Given the description of an element on the screen output the (x, y) to click on. 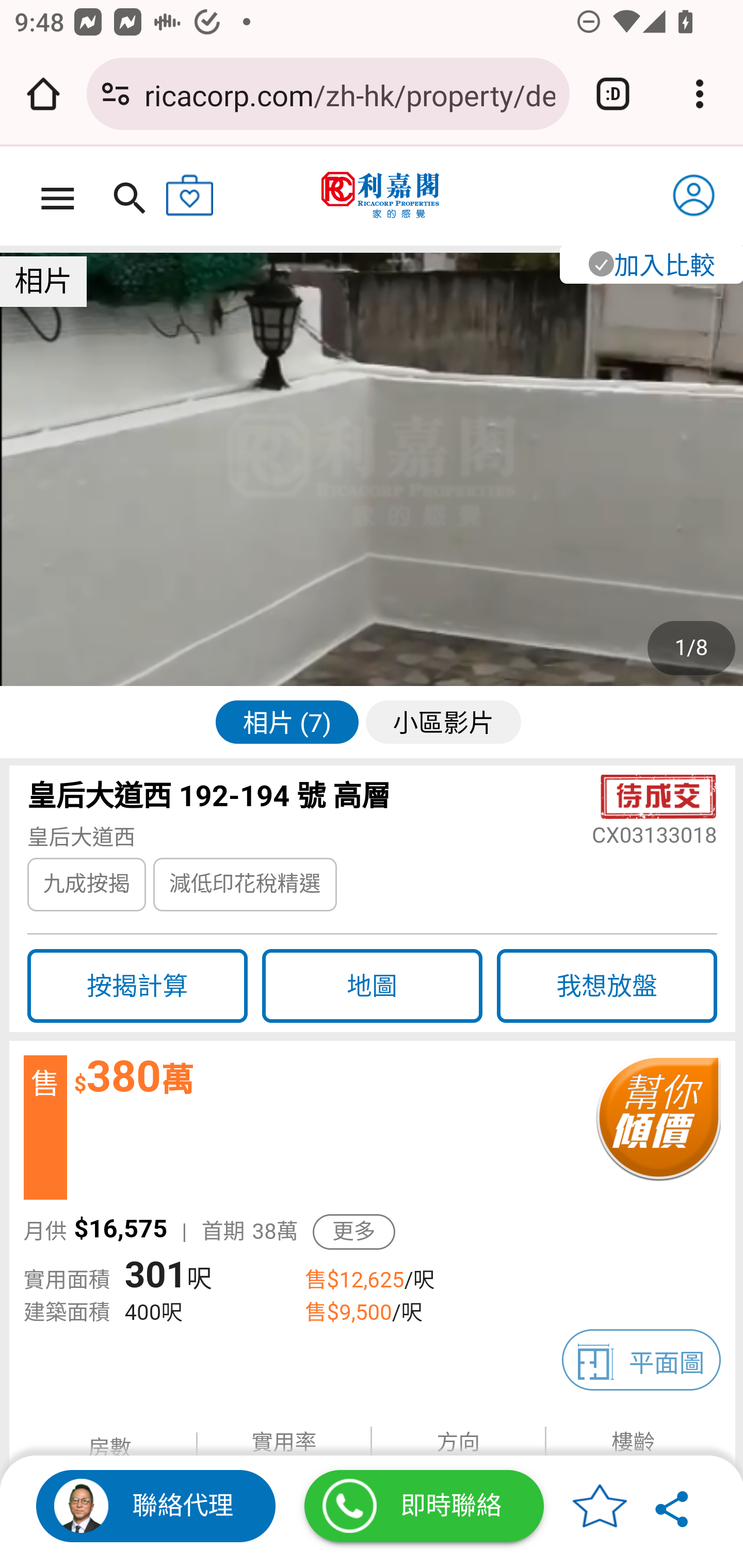
Open the home page (43, 93)
Connection is secure (115, 93)
Switch or close tabs (612, 93)
Customize and control Google Chrome (699, 93)
unchecked 加入比較 (650, 263)
按揭計算 (136, 985)
地圖 (371, 985)
我想放盤 (606, 985)
平面圖 (641, 1360)
Thomas Chan 聯絡代理 (156, 1505)
whatsapp 即時聯絡 (424, 1505)
Share button (672, 1505)
